Given the description of an element on the screen output the (x, y) to click on. 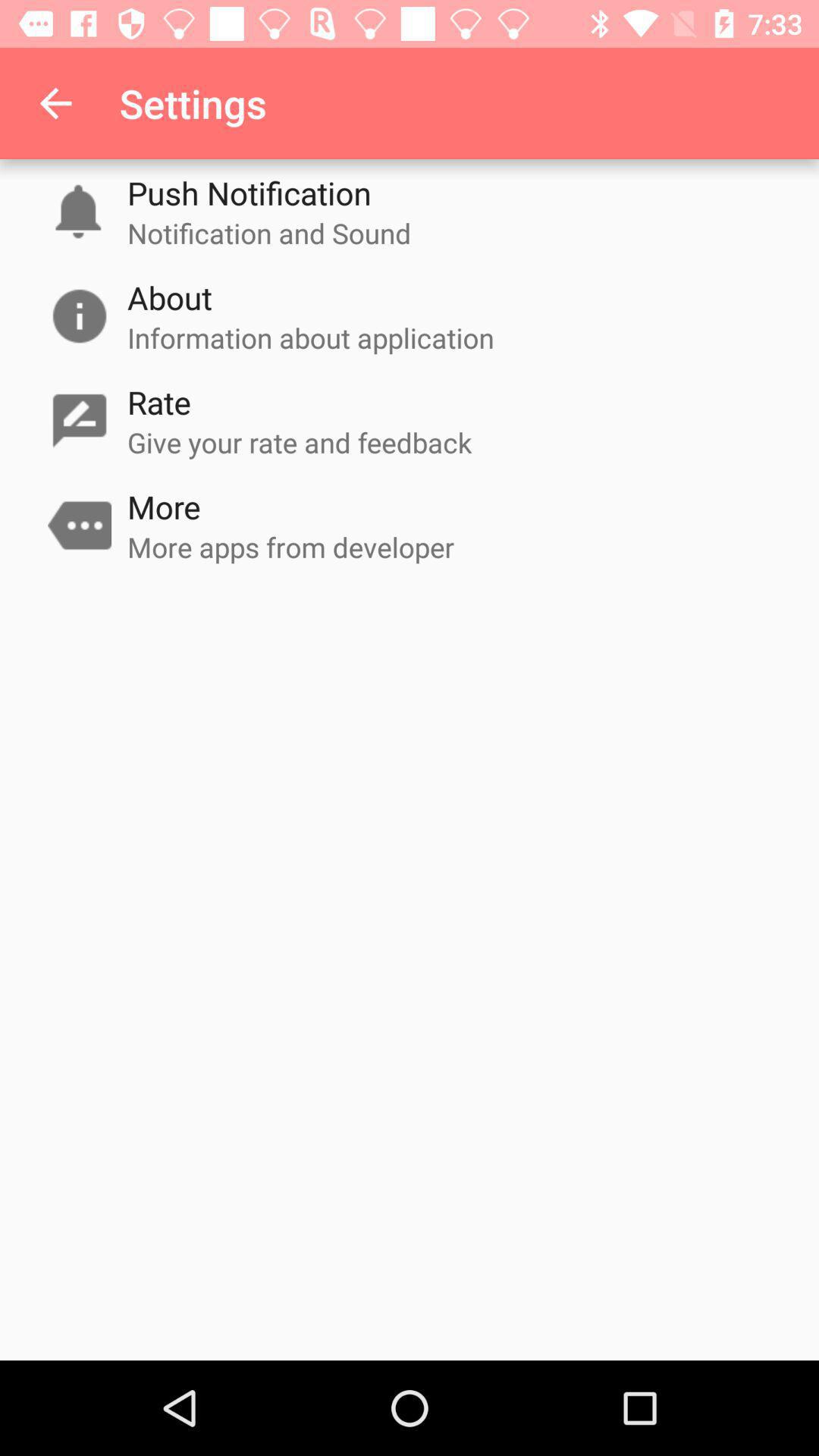
turn off the item above the rate icon (310, 337)
